Given the description of an element on the screen output the (x, y) to click on. 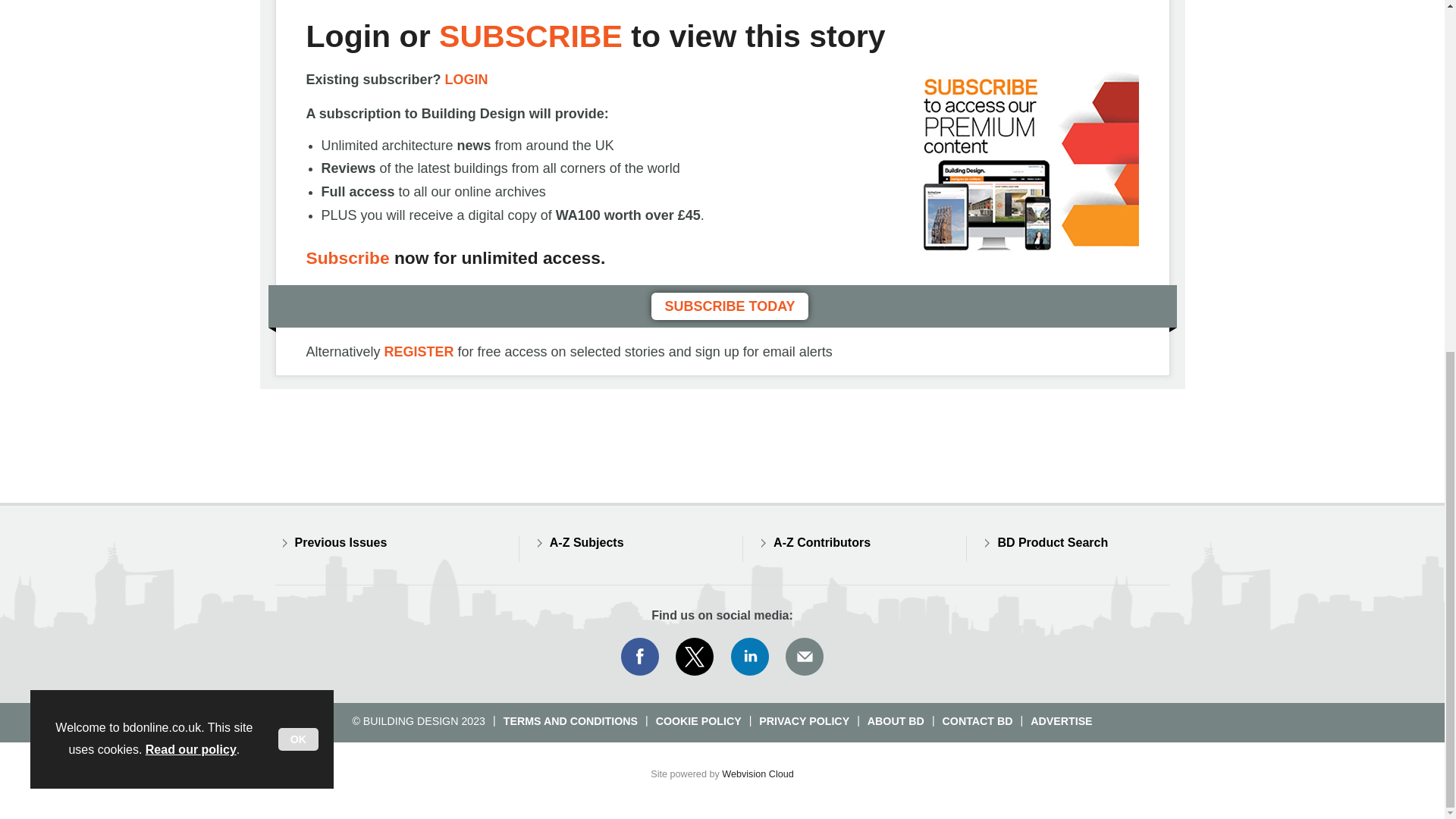
Connect with us on Twitter (694, 656)
Connect with us on Linked in (750, 656)
Email us (804, 656)
Connect with us on Facebook (639, 656)
